Given the description of an element on the screen output the (x, y) to click on. 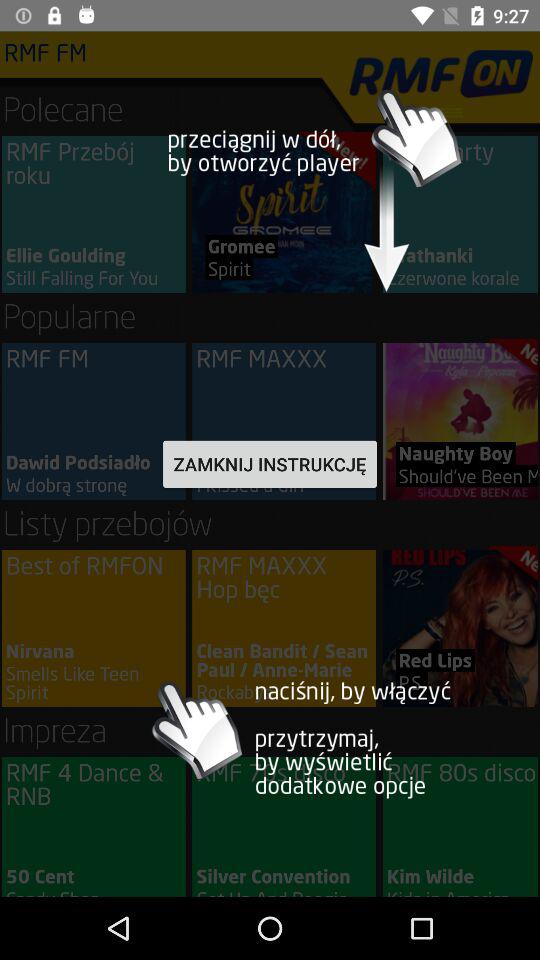
turn off the icon at the center (269, 463)
